Given the description of an element on the screen output the (x, y) to click on. 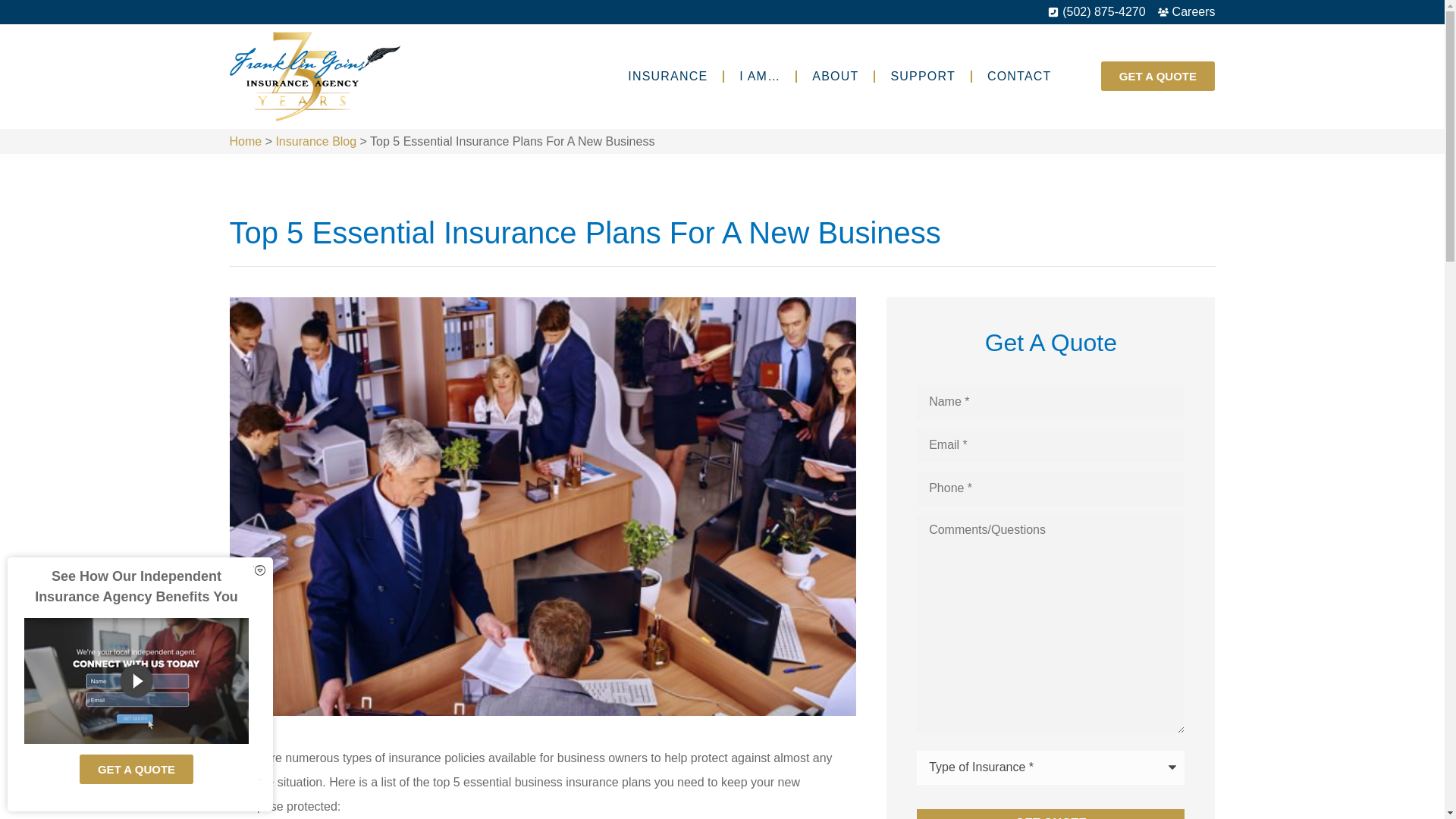
Get Quote (1051, 814)
Careers (1186, 12)
ABOUT (834, 75)
INSURANCE (667, 75)
